Given the description of an element on the screen output the (x, y) to click on. 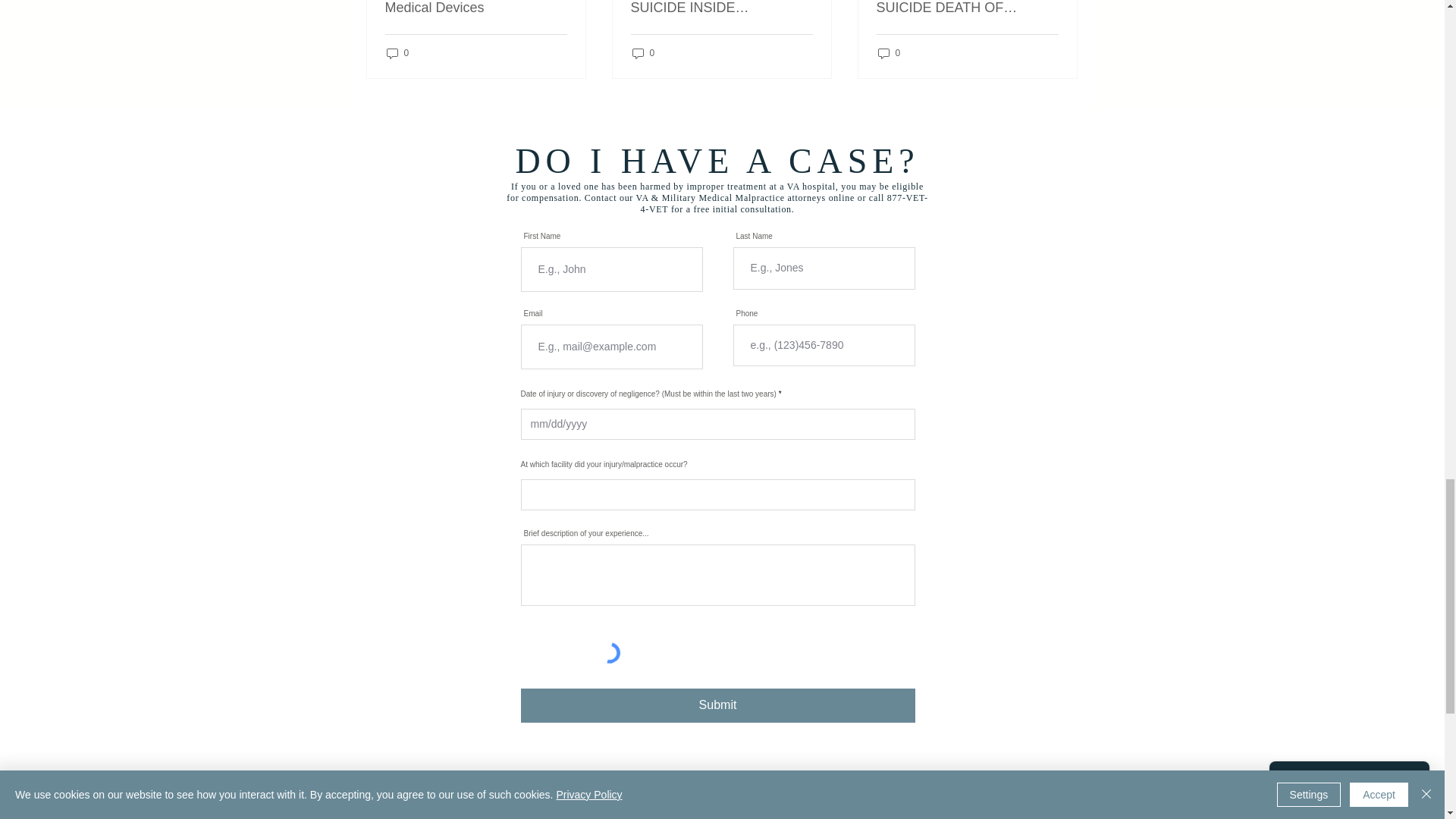
0 (397, 52)
VETERAN COMMITS SUICIDE INSIDE PITTSBURGH VA HOSPITAL (721, 7)
Veterans Denied Needed Medical Devices (476, 7)
0 (889, 52)
Submit (716, 705)
0 (643, 52)
